Given the description of an element on the screen output the (x, y) to click on. 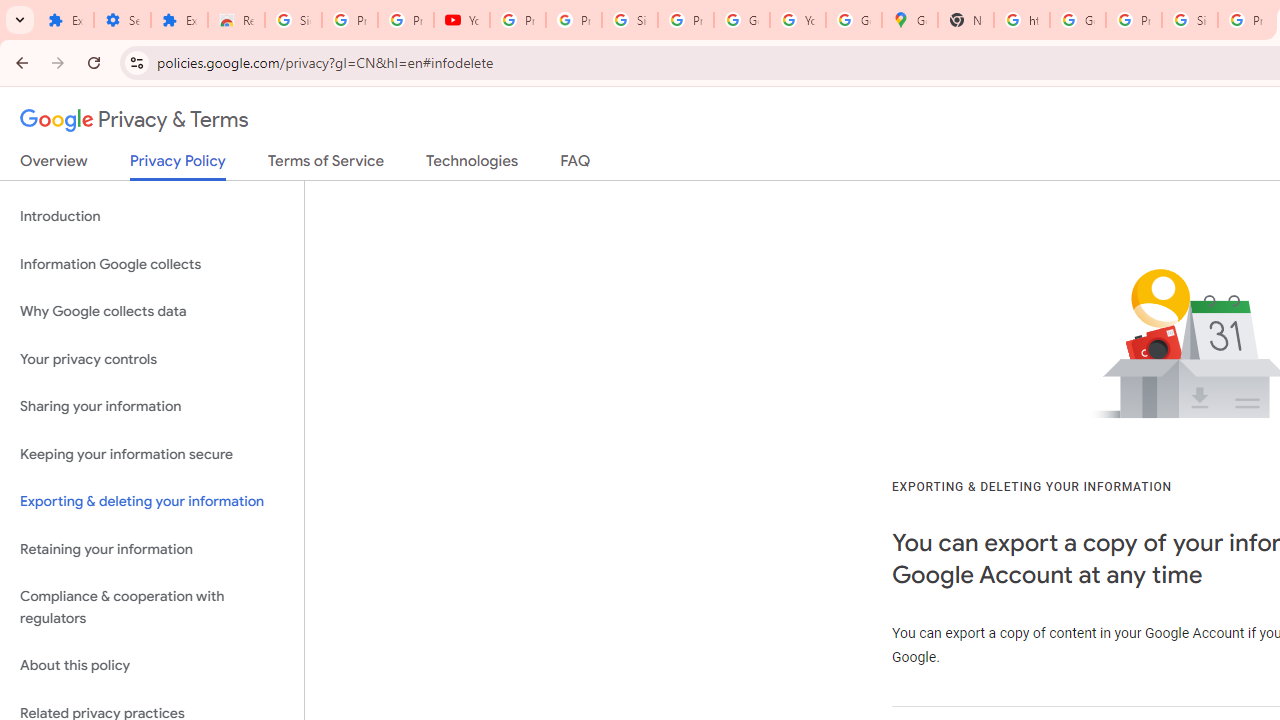
Exporting & deleting your information (152, 502)
Sign in - Google Accounts (629, 20)
Your privacy controls (152, 358)
Extensions (65, 20)
Retaining your information (152, 548)
https://scholar.google.com/ (1021, 20)
